Given the description of an element on the screen output the (x, y) to click on. 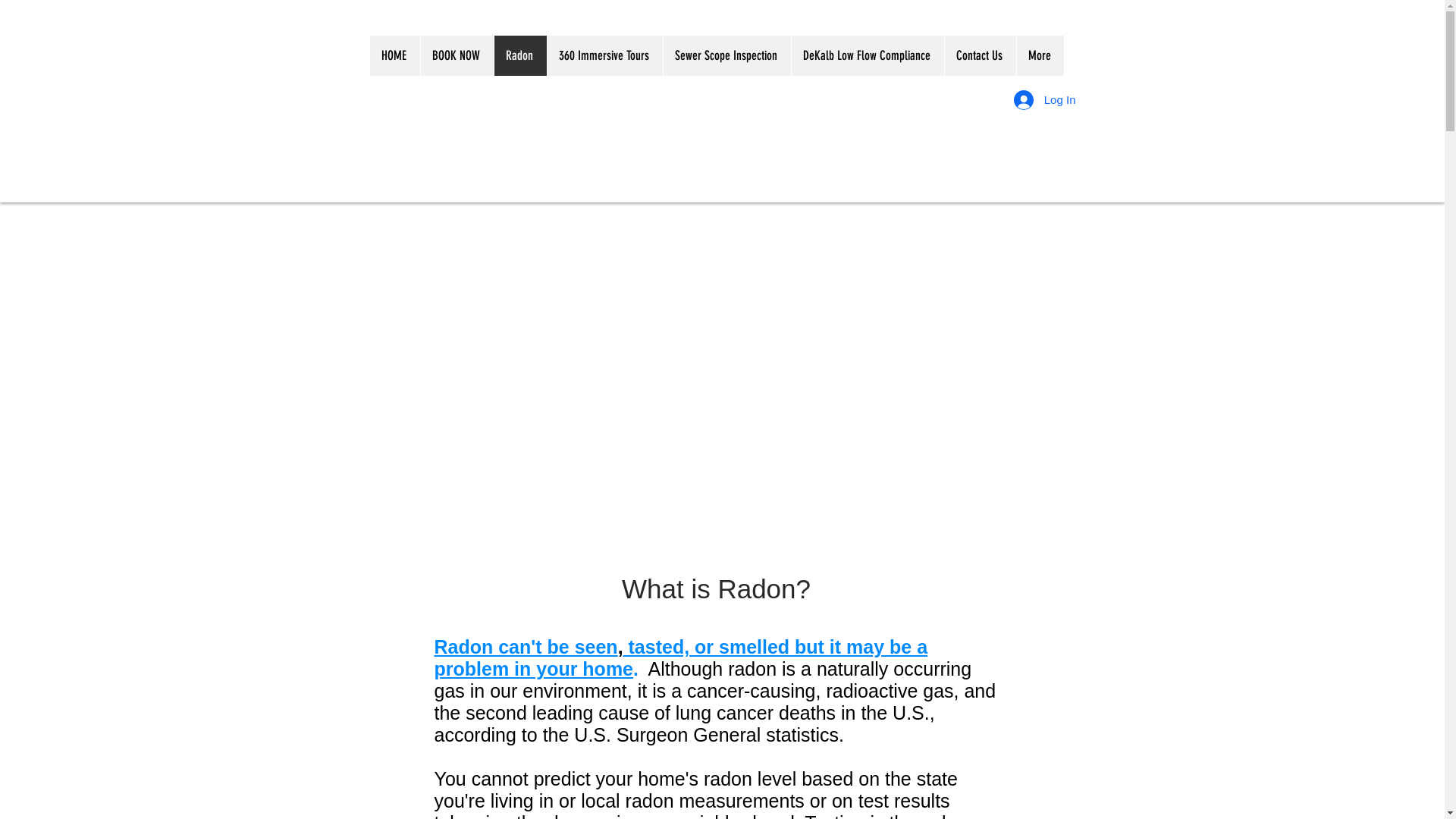
Log In Element type: text (1044, 98)
Sewer Scope Inspection Element type: text (726, 55)
Contact Us Element type: text (979, 55)
360 Immersive Tours Element type: text (604, 55)
HOME Element type: text (395, 55)
BOOK NOW Element type: text (456, 55)
Radon Element type: text (519, 55)
DeKalb Low Flow Compliance Element type: text (866, 55)
